Given the description of an element on the screen output the (x, y) to click on. 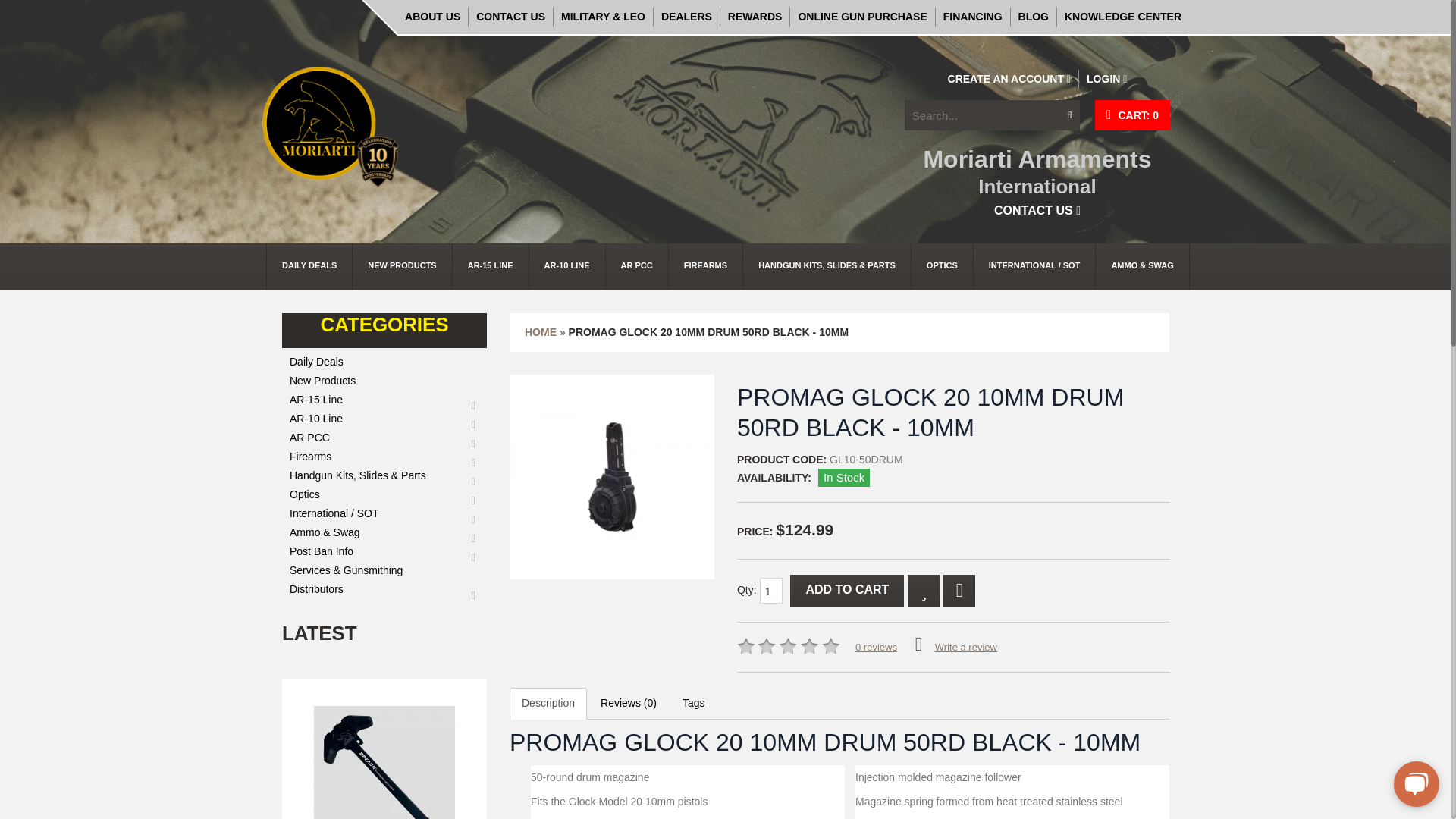
FINANCING (973, 16)
Register (1010, 78)
ONLINE GUN PURCHASE (862, 16)
ABOUT US (432, 16)
PROMAG GLOCK 20 10MM DRUM 50RD BLACK - 10mm (611, 476)
DEALERS (686, 16)
KNOWLEDGE CENTER (1123, 16)
BLOG (1033, 16)
Moriarti Armaments (330, 126)
CONTACT US (510, 16)
REWARDS (755, 16)
Sign in (1106, 78)
